Given the description of an element on the screen output the (x, y) to click on. 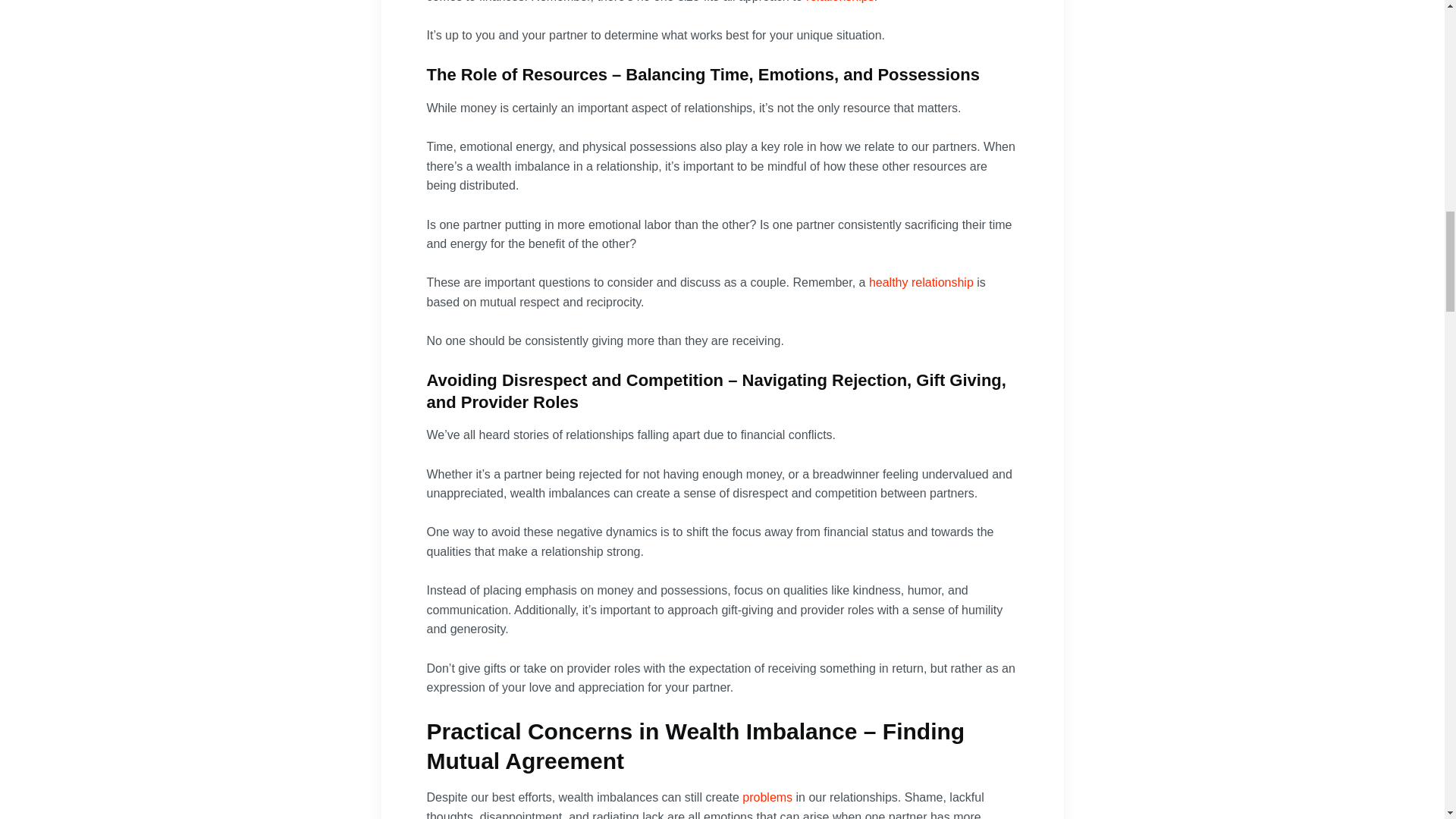
relationships (840, 1)
problems (767, 797)
healthy relationship (921, 282)
